Given the description of an element on the screen output the (x, y) to click on. 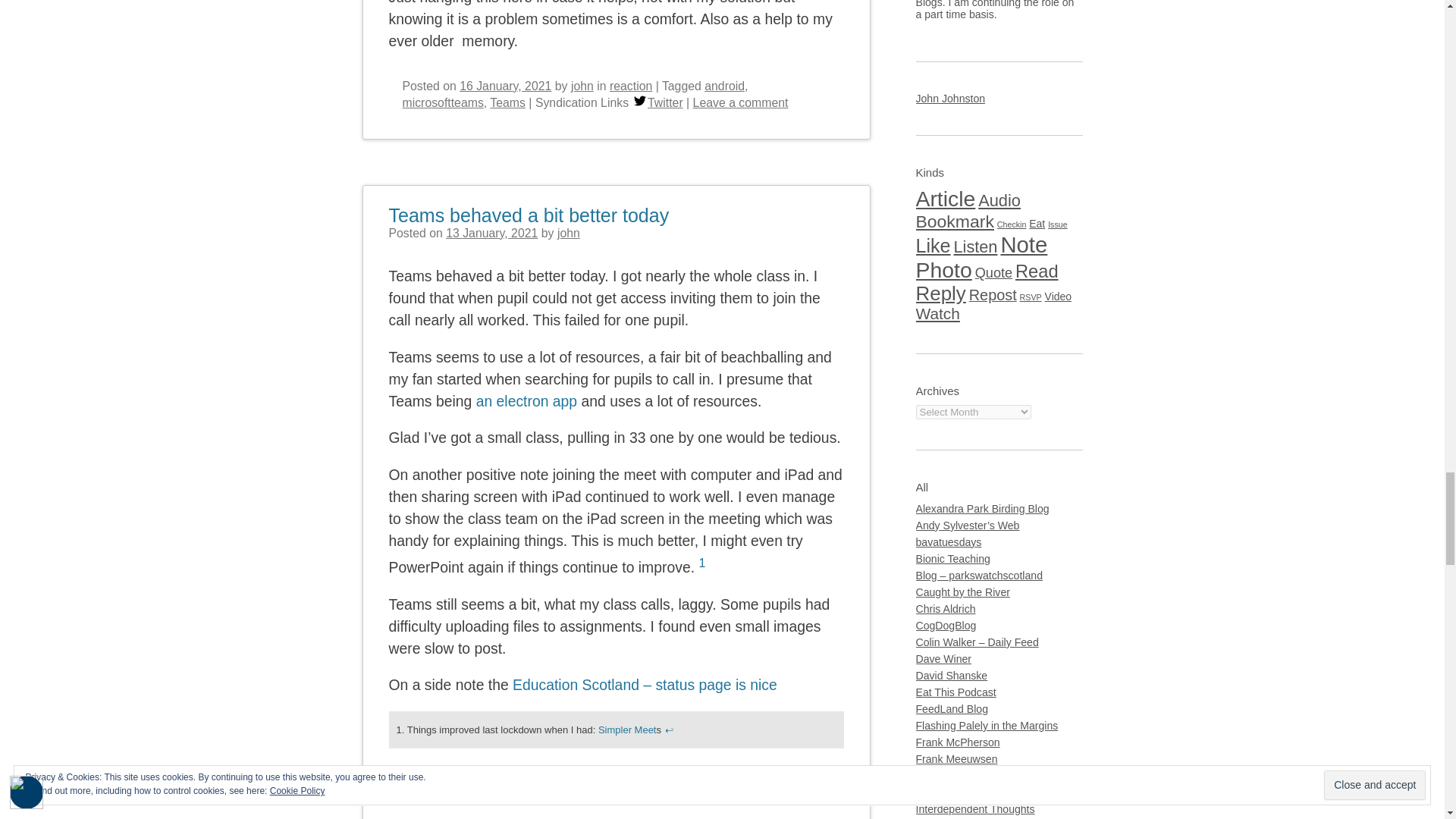
Twitter (639, 101)
Twitter (440, 797)
